Given the description of an element on the screen output the (x, y) to click on. 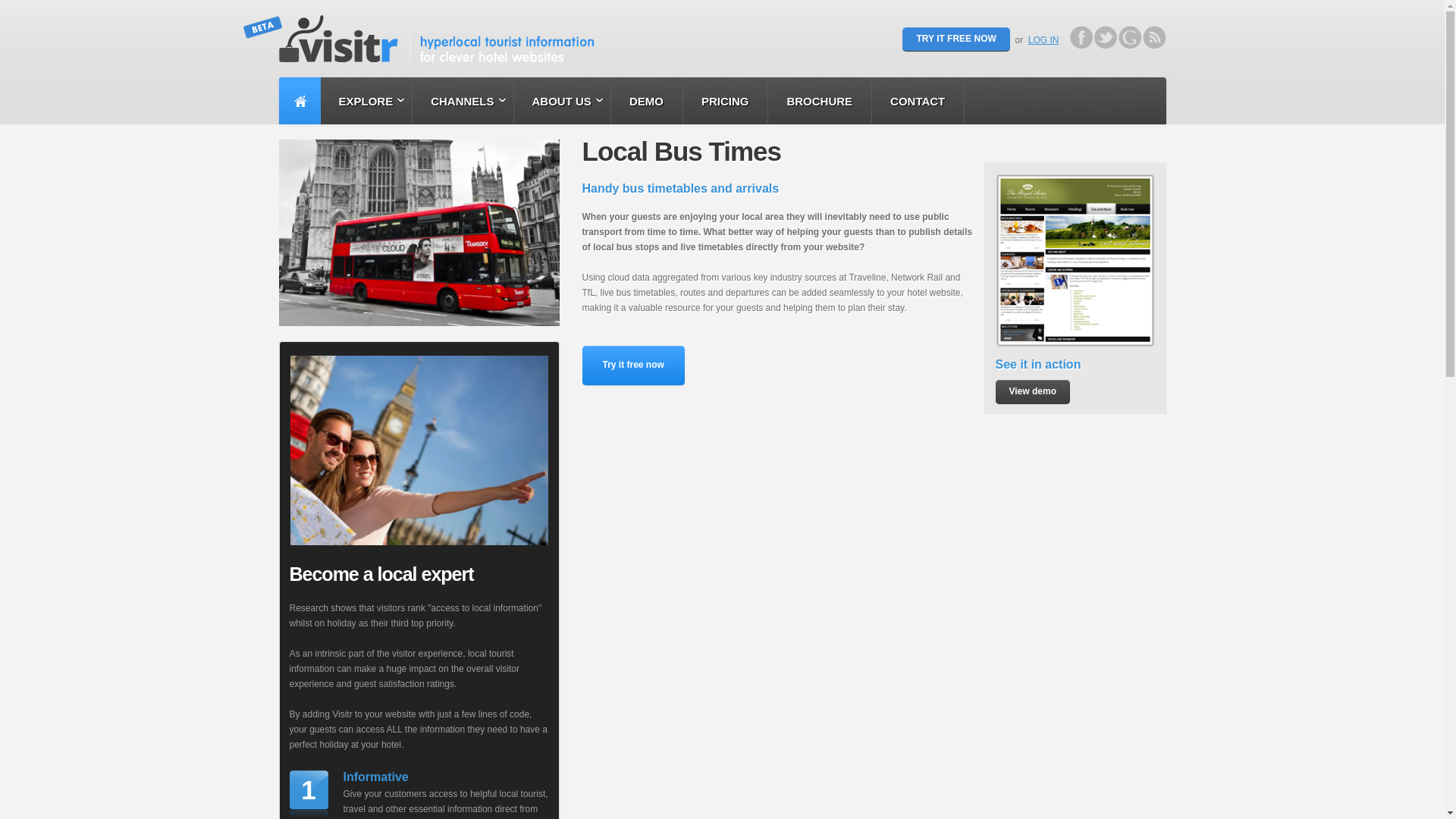
EXPLORE (366, 99)
LOG IN (1043, 40)
Visitr Homepage (449, 26)
TRY IT FREE NOW (955, 39)
CHANNELS (462, 99)
